Given the description of an element on the screen output the (x, y) to click on. 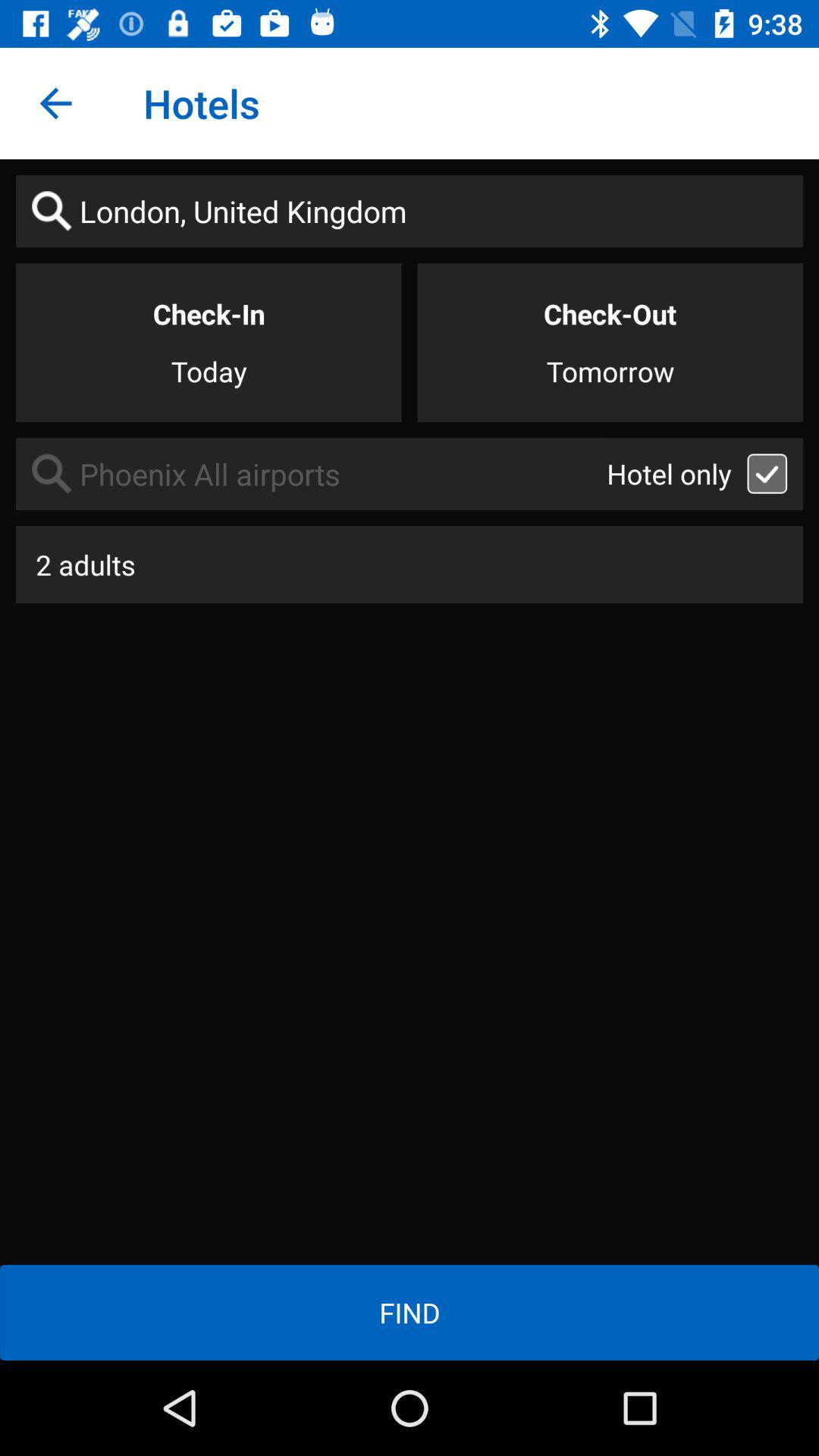
turn off item above the london, united kingdom item (55, 103)
